Given the description of an element on the screen output the (x, y) to click on. 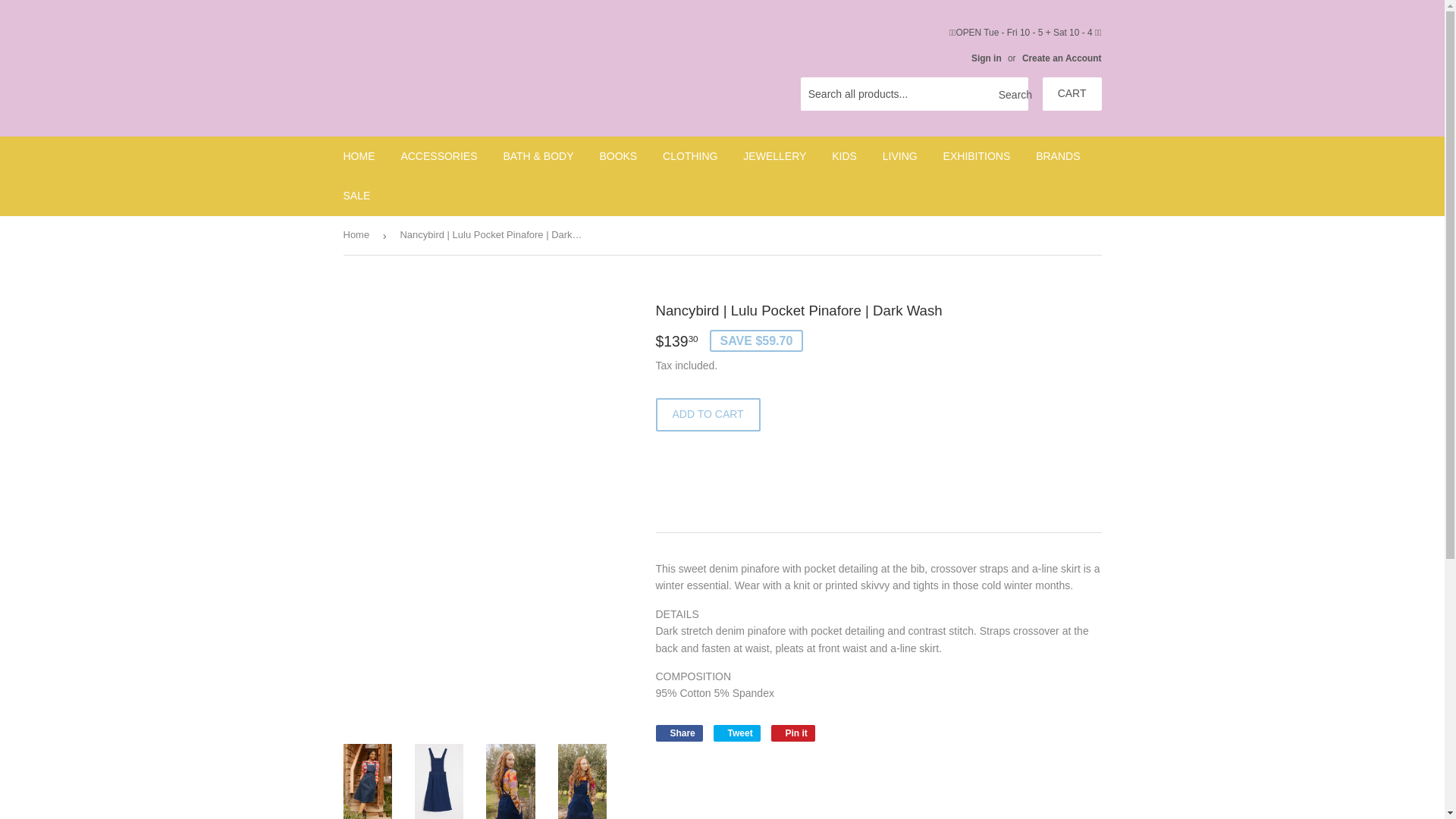
Tweet on Twitter (736, 733)
Pin on Pinterest (793, 733)
CART (1072, 93)
Create an Account (1062, 58)
ACCESSORIES (437, 156)
BRANDS (1057, 156)
SALE (356, 195)
Search (1010, 94)
LIVING (899, 156)
EXHIBITIONS (976, 156)
